Given the description of an element on the screen output the (x, y) to click on. 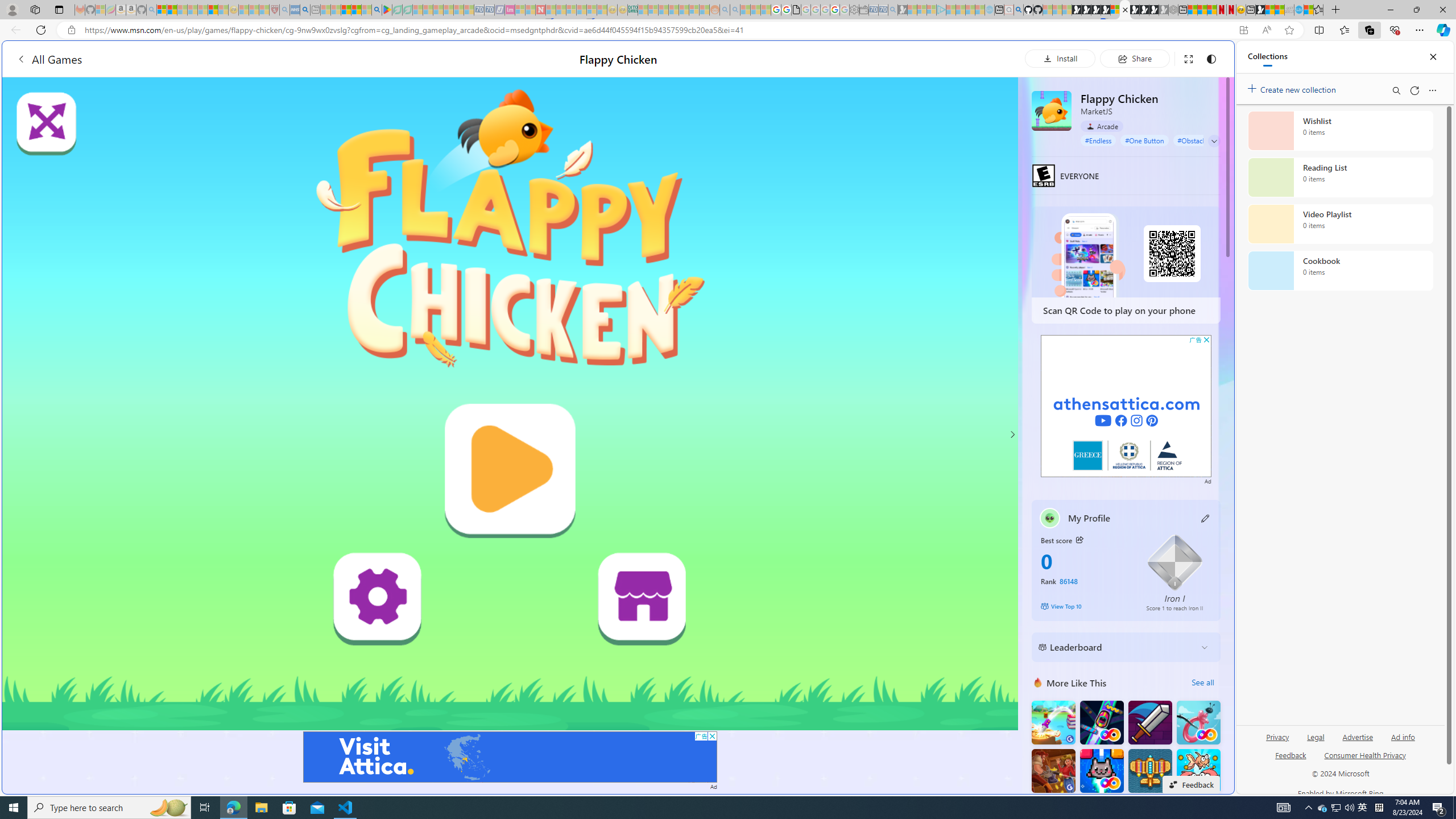
View Top 10 (1085, 605)
Dungeon Master Knight (1149, 722)
Atlantic Sky Hunter (1149, 770)
AutomationID: canvas (509, 403)
Knife Flip (1053, 722)
